Given the description of an element on the screen output the (x, y) to click on. 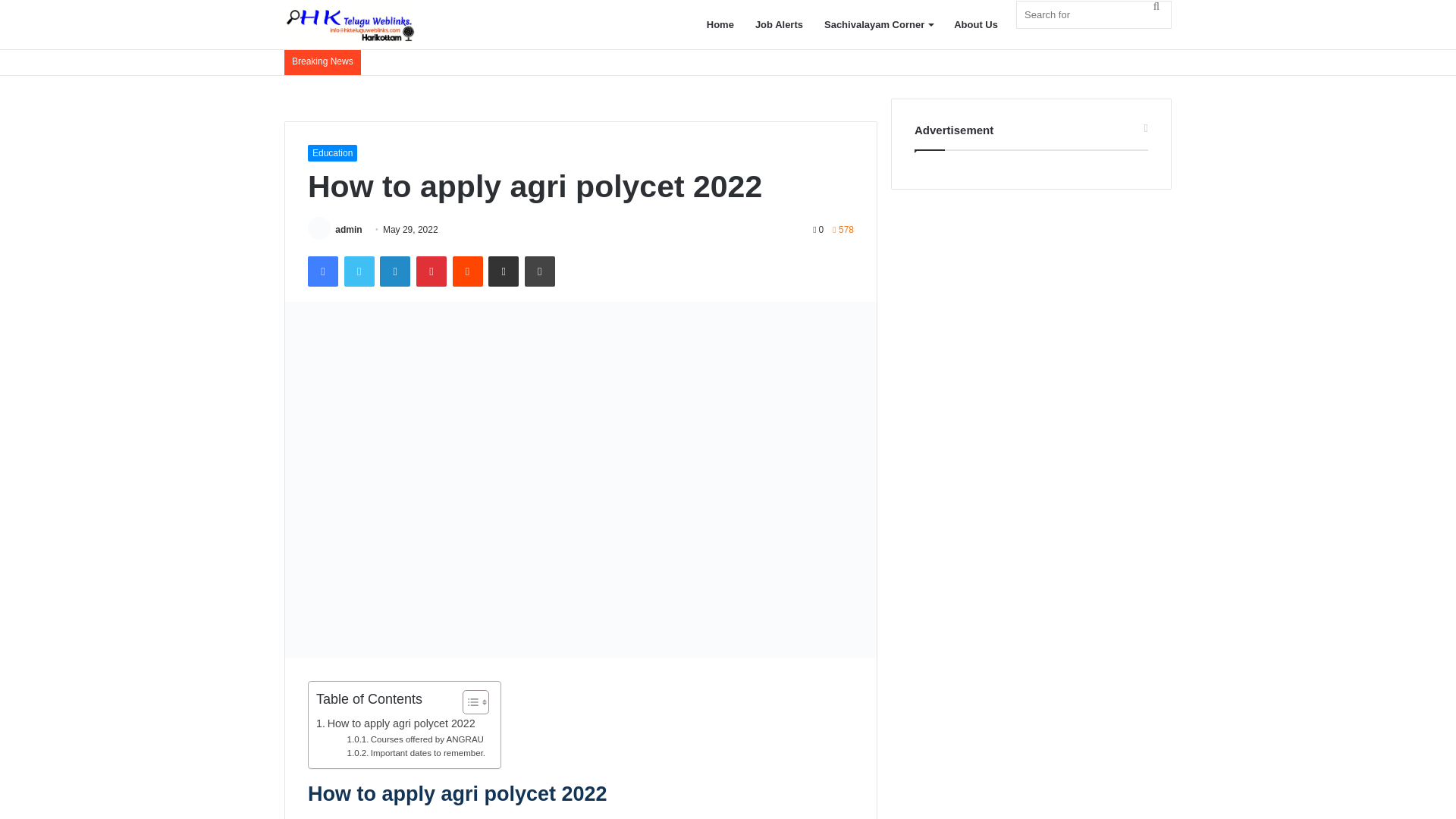
Reddit (466, 271)
Share via Email (502, 271)
Search for (1094, 14)
Print (539, 271)
Reddit (466, 271)
Search for (1156, 6)
Job Alerts (778, 24)
Facebook (322, 271)
Education (331, 152)
Pinterest (431, 271)
admin (347, 229)
Courses offered by ANGRAU (415, 739)
Twitter (358, 271)
About Us (976, 24)
